Given the description of an element on the screen output the (x, y) to click on. 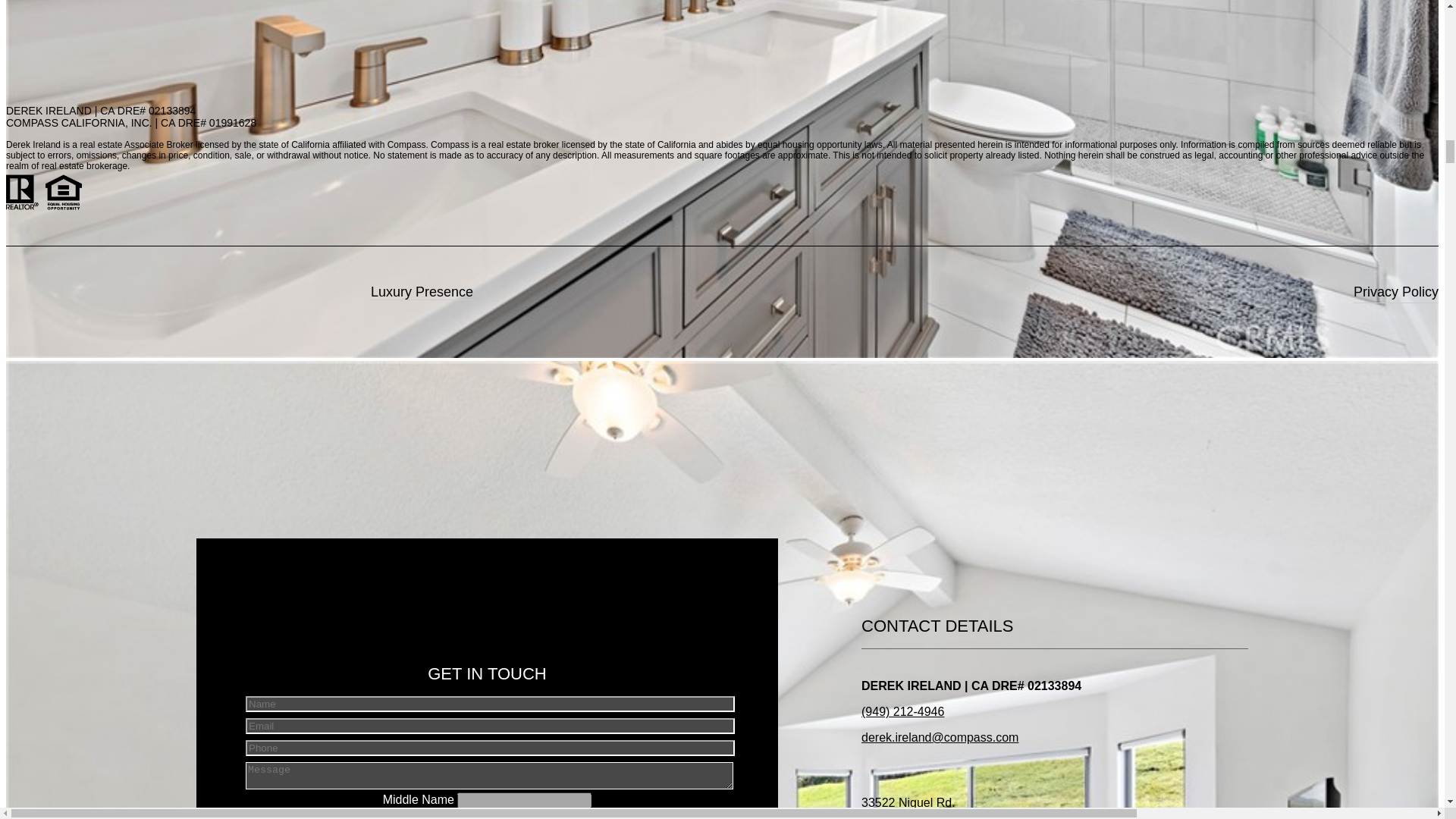
on (261, 814)
